Given the description of an element on the screen output the (x, y) to click on. 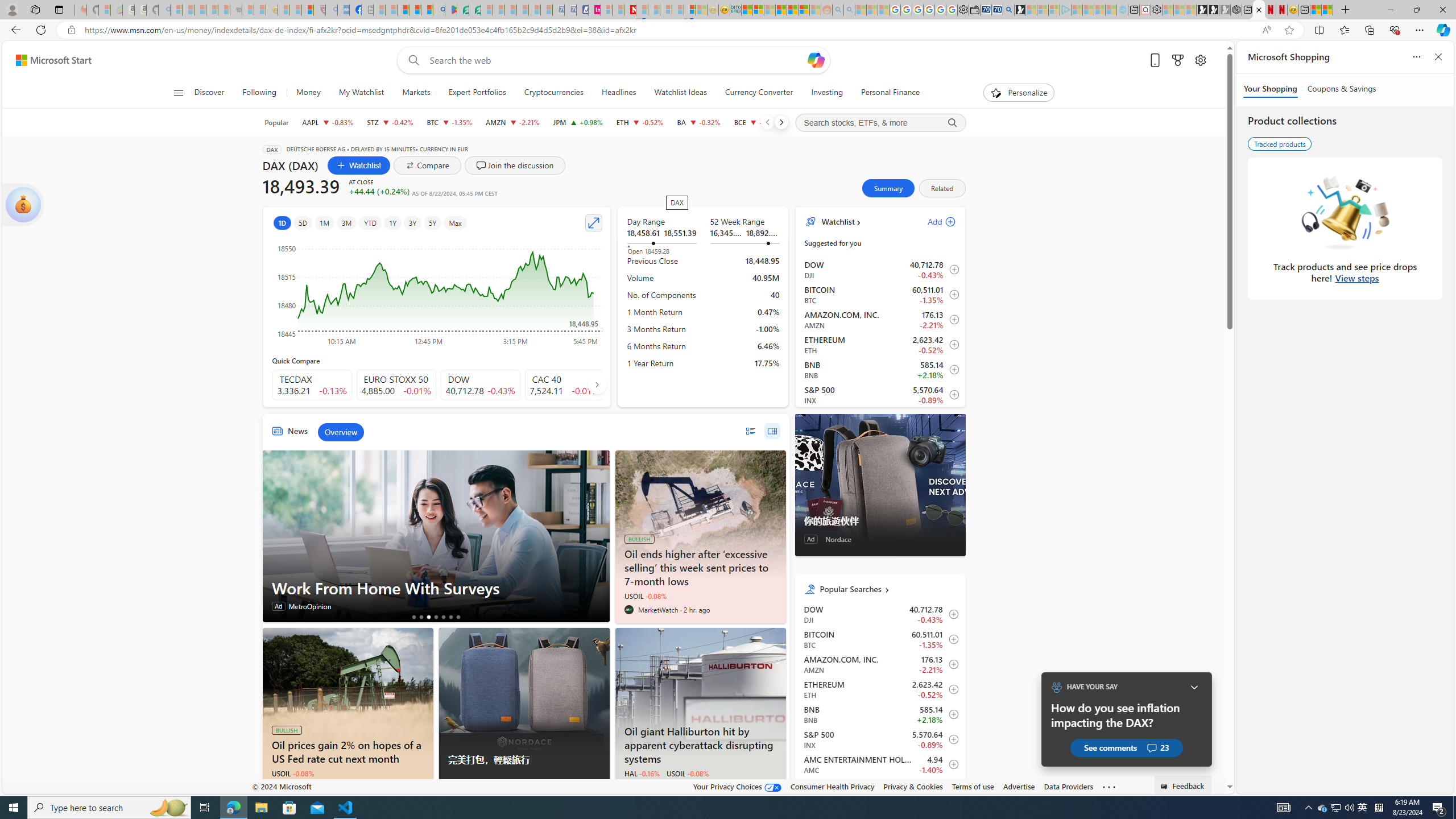
Max (455, 223)
Previous (767, 122)
Popular (276, 121)
USOIL -0.08% (687, 773)
AMZN AMAZON.COM, INC. decrease 176.13 -3.98 -2.21% item2 (880, 319)
Watchlist (837, 221)
